Given the description of an element on the screen output the (x, y) to click on. 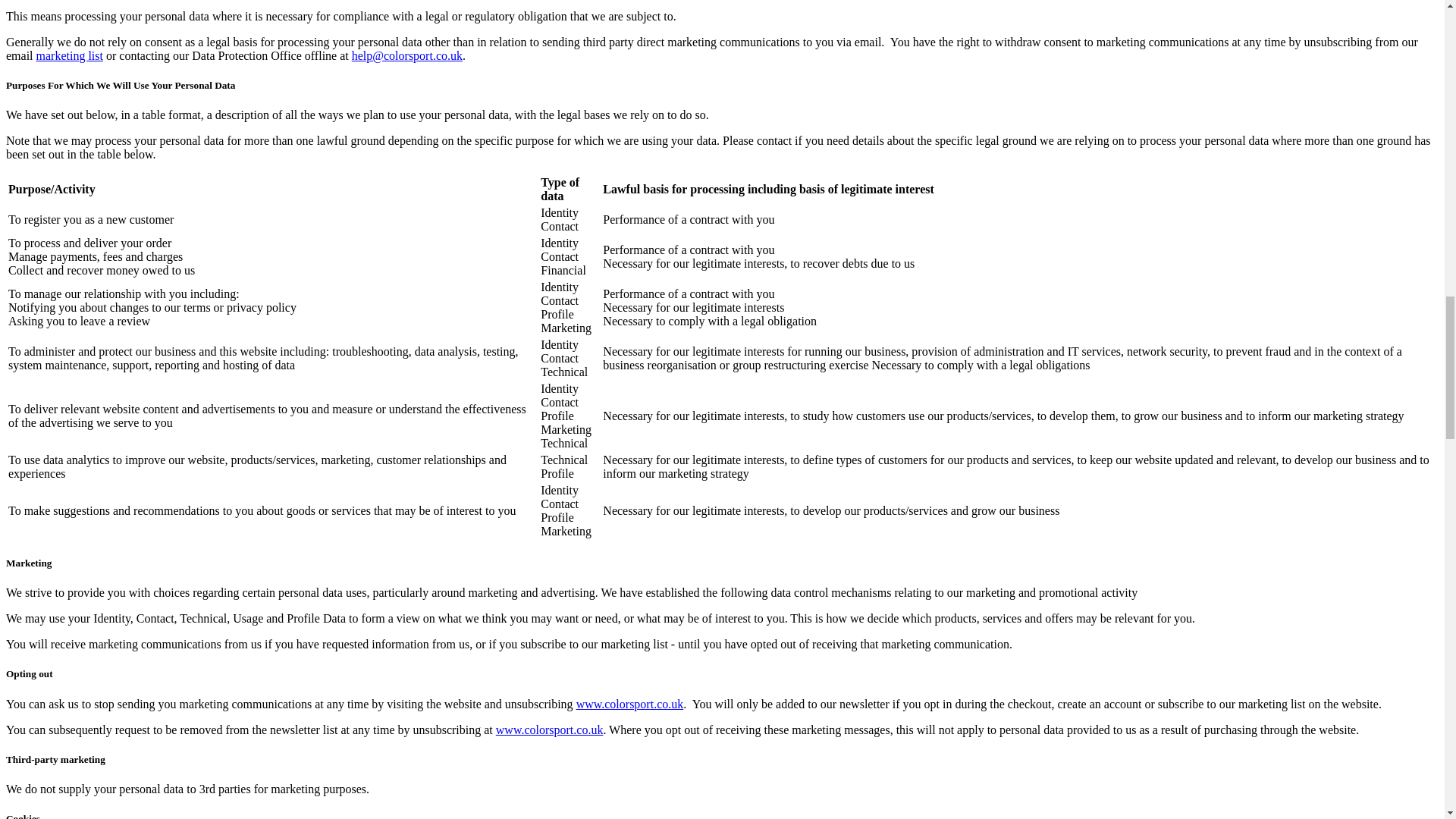
www.colorsport.co.uk (550, 729)
www.colorsport.co.uk (630, 703)
marketing list (69, 55)
